Given the description of an element on the screen output the (x, y) to click on. 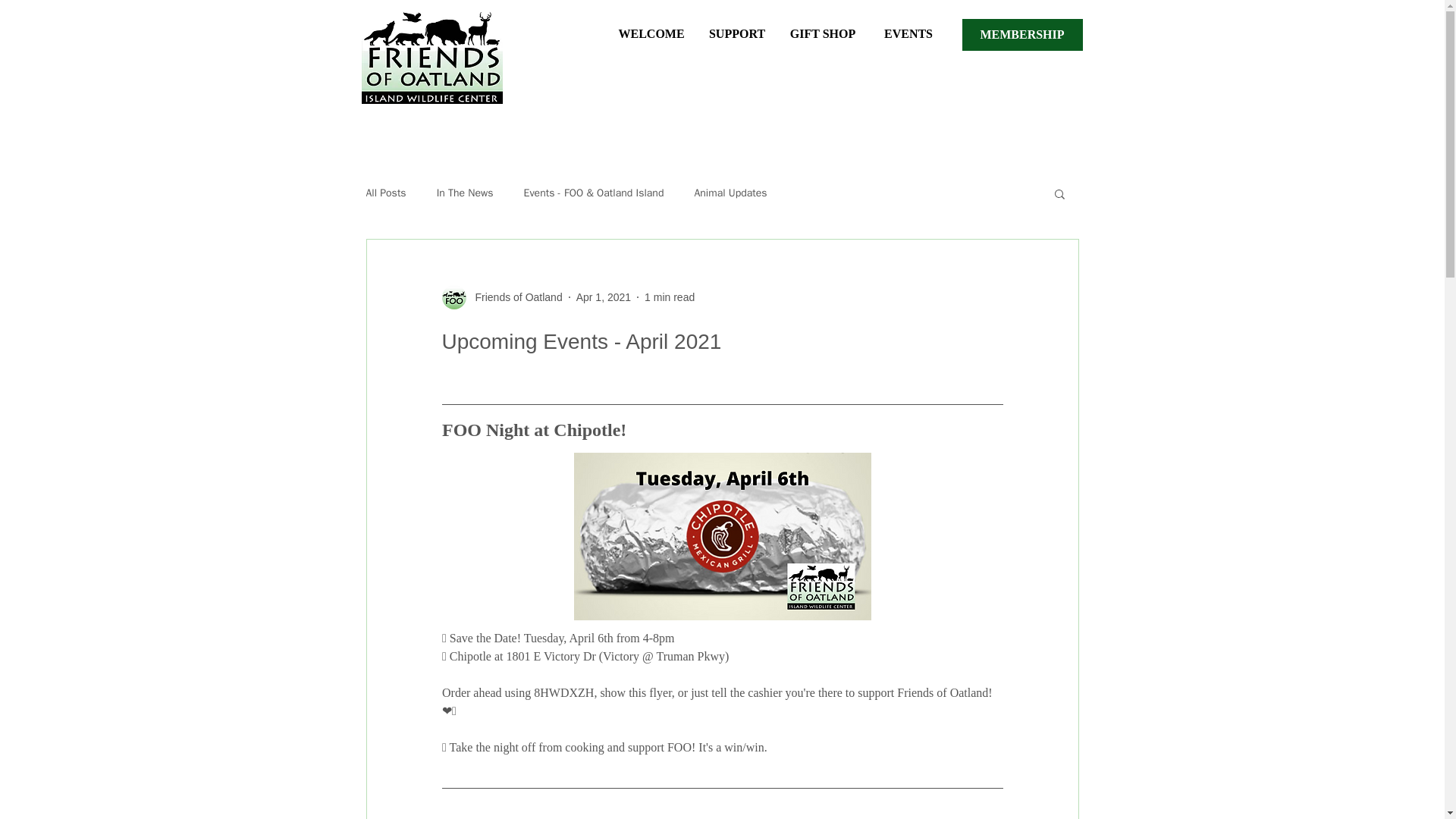
WELCOME (651, 26)
Apr 1, 2021 (603, 297)
MEMBERSHIP (1020, 34)
EVENTS (909, 26)
GIFT SHOP (821, 26)
In The News (464, 192)
Friends of Oatland (501, 297)
All Posts (385, 192)
Animal Updates (730, 192)
Friends of Oatland (513, 297)
1 min read (669, 297)
SUPPORT (737, 26)
